Given the description of an element on the screen output the (x, y) to click on. 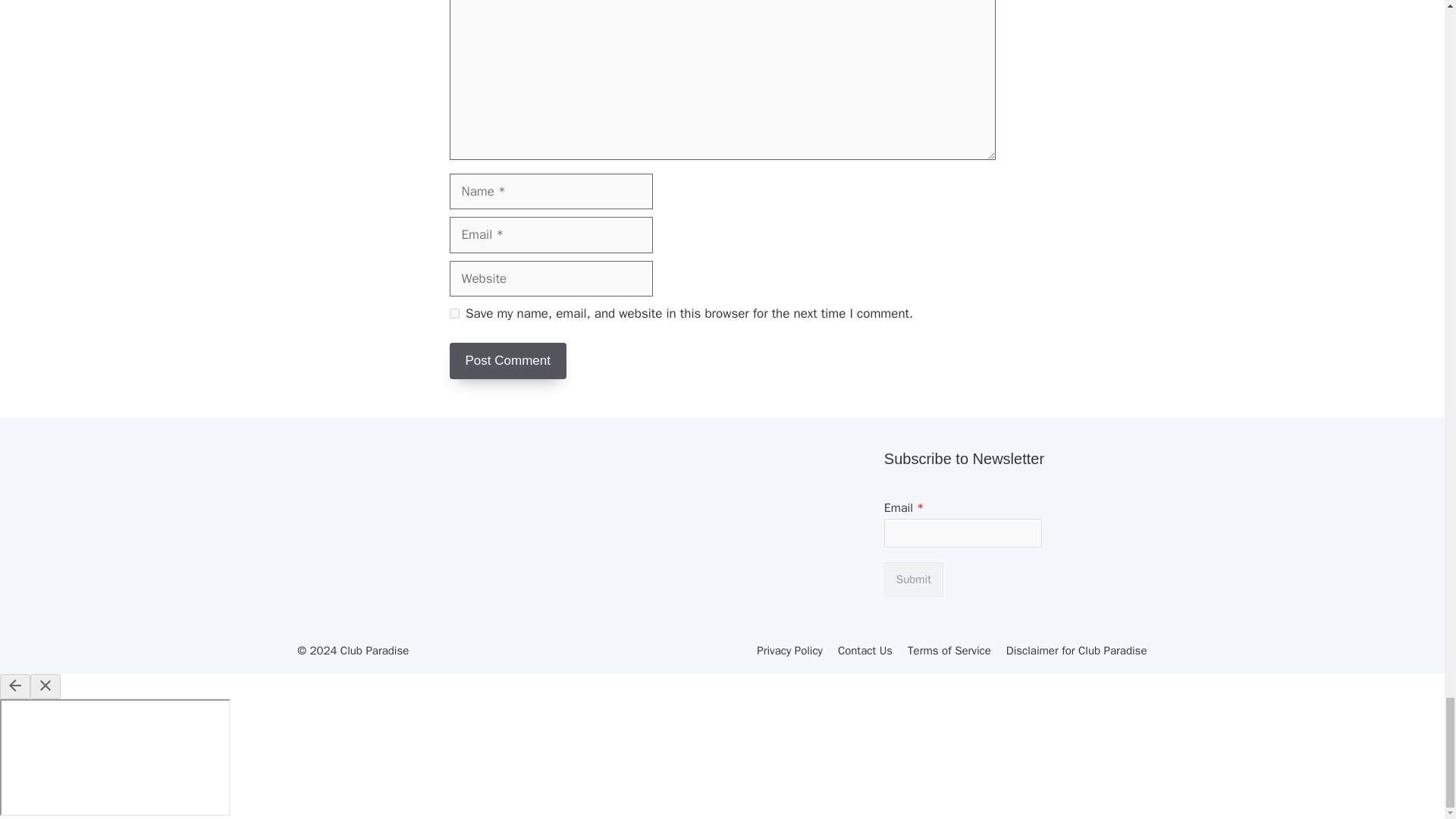
yes (453, 313)
Post Comment (507, 361)
